Given the description of an element on the screen output the (x, y) to click on. 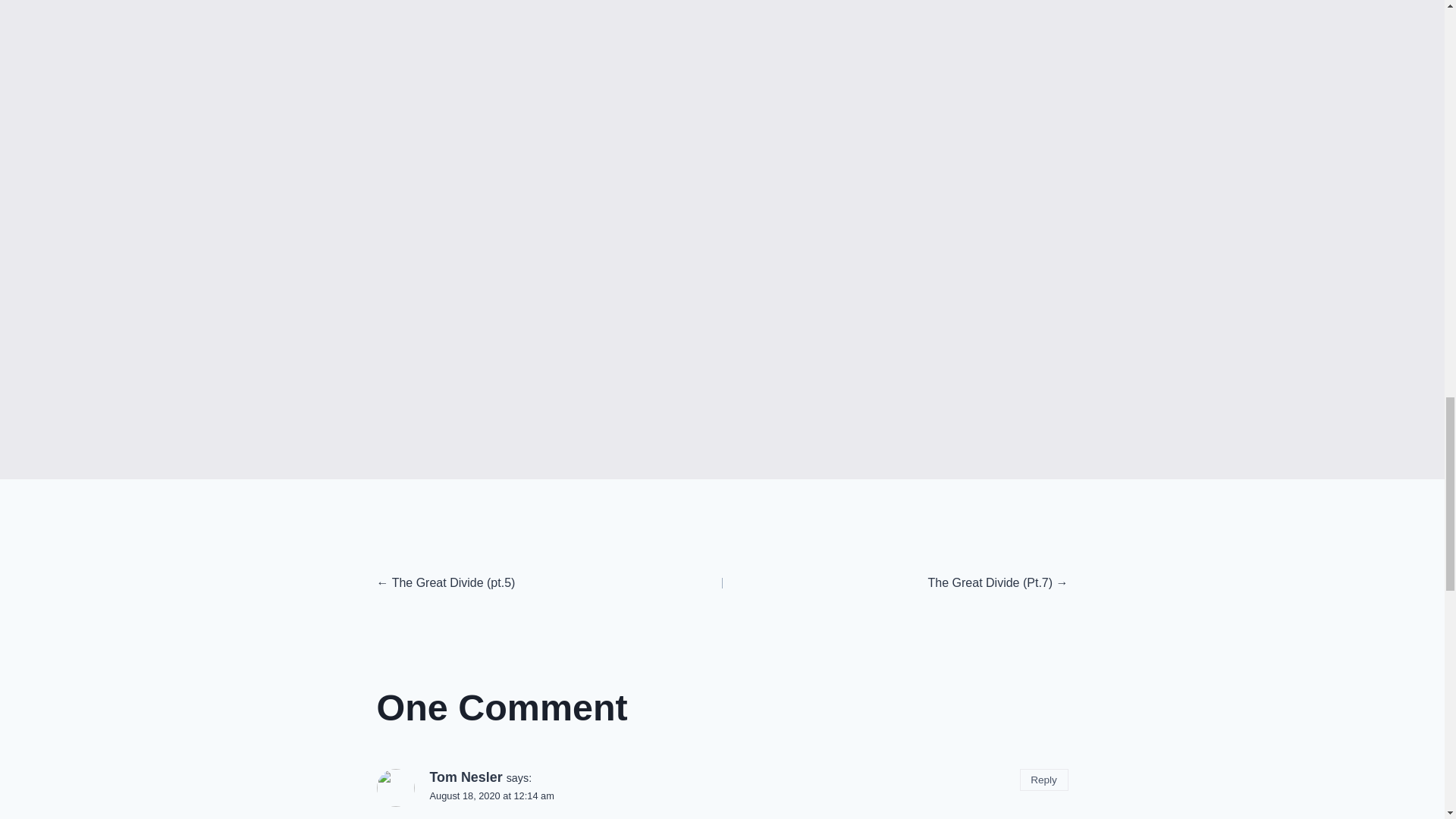
August 18, 2020 at 12:14 am (491, 795)
Reply (1044, 780)
